Given the description of an element on the screen output the (x, y) to click on. 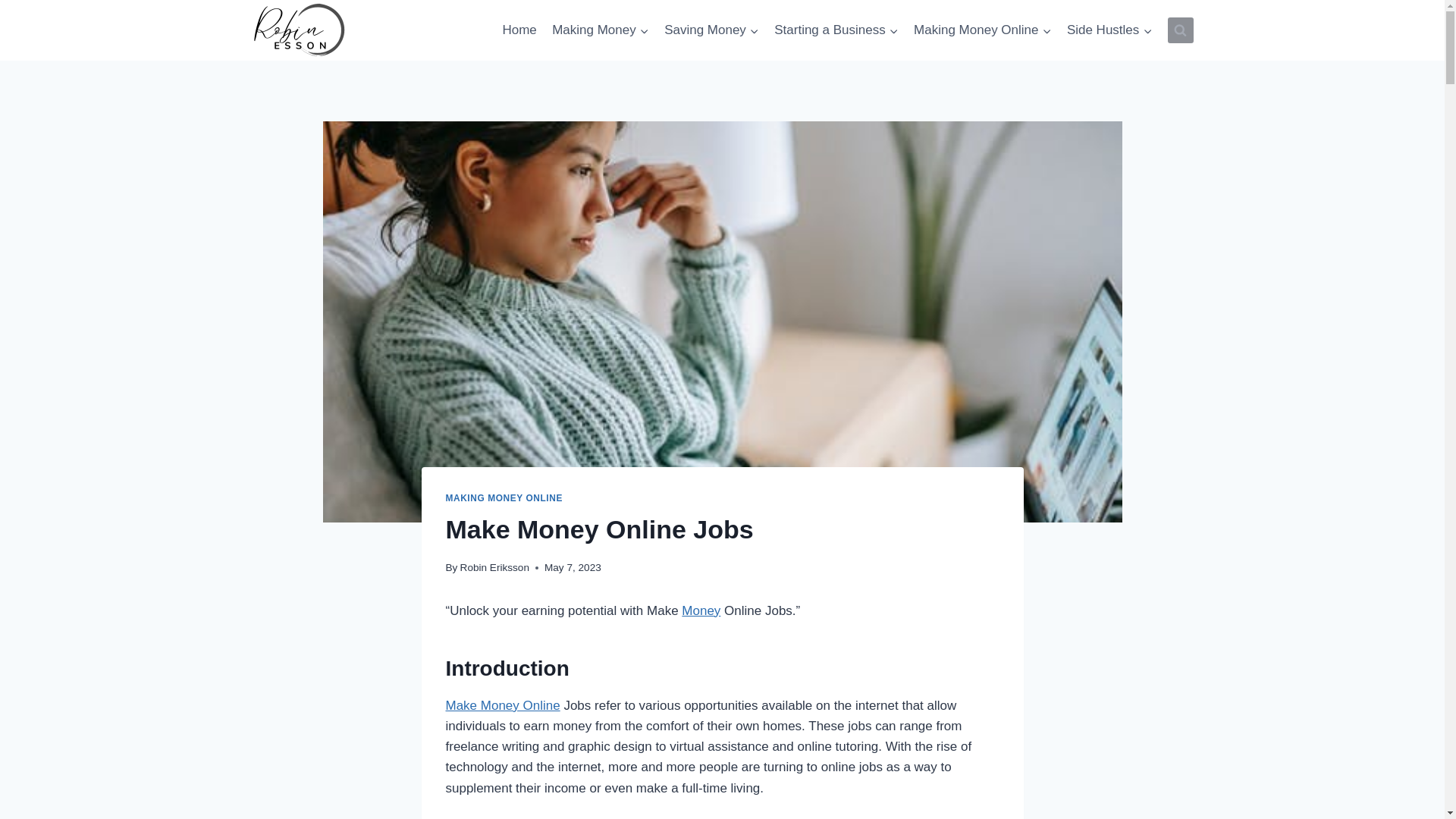
Home (519, 30)
MAKING MONEY ONLINE (503, 498)
Saving Money (711, 30)
Make Money Online (502, 705)
Making Money Online (982, 30)
Robin Eriksson (494, 567)
Starting a Business (836, 30)
Money (700, 610)
Side Hustles (1109, 30)
Making Money (600, 30)
Money (700, 610)
Make Money Online (502, 705)
